Given the description of an element on the screen output the (x, y) to click on. 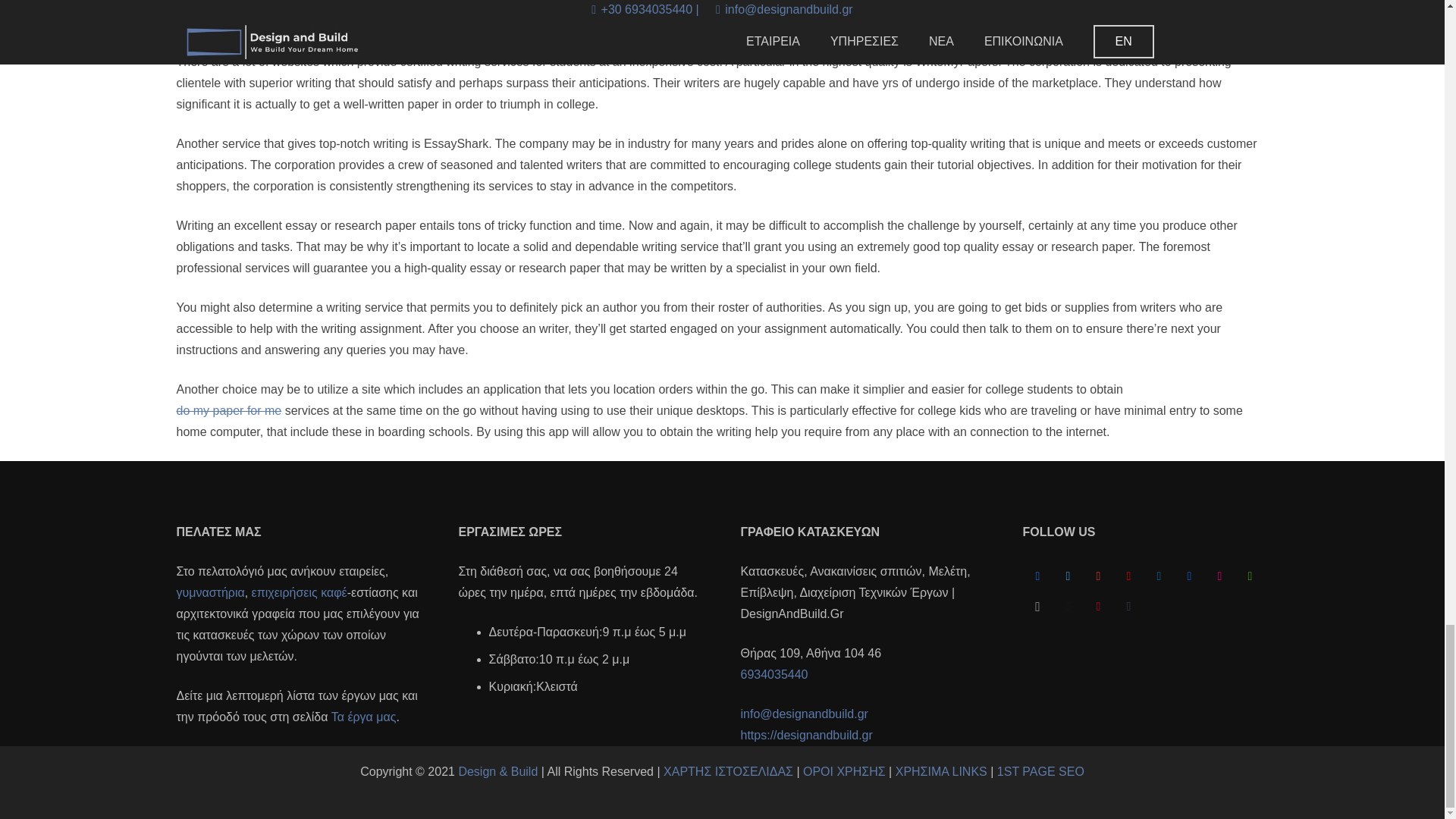
do my paper for me (228, 410)
LinkedIn (1157, 576)
Houzz (1249, 576)
6934035440 (773, 674)
write my paper for me online (252, 3)
Tumblr (1127, 606)
Behance (1188, 576)
Google (1098, 576)
Facebook (1037, 576)
Pinterest (1098, 606)
Medium (1067, 606)
YouTube (1127, 576)
Twitter (1067, 576)
Flickr (1219, 576)
Instagram (1037, 606)
